Given the description of an element on the screen output the (x, y) to click on. 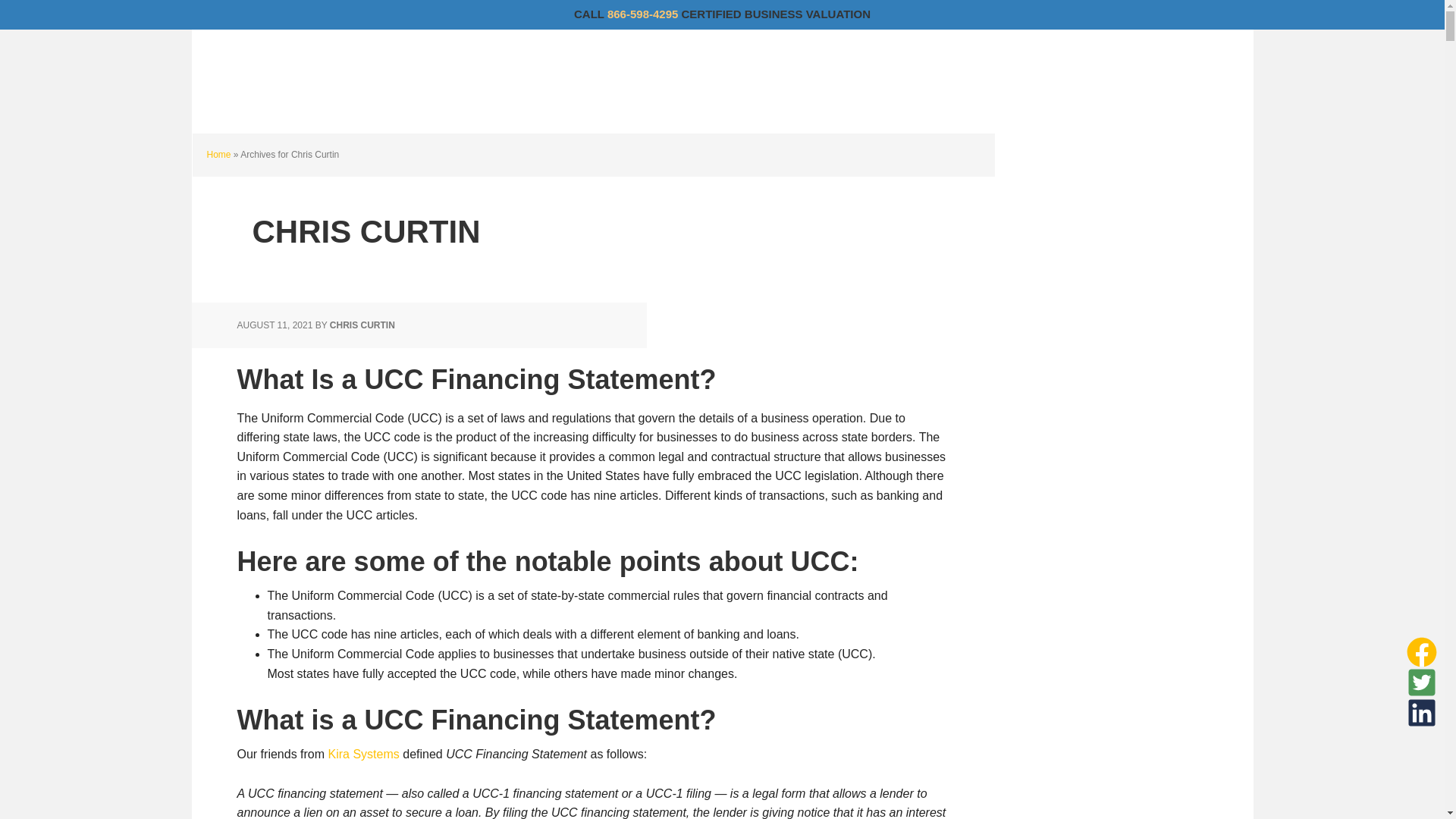
866-598-4295 (642, 13)
CHRIS CURTIN (362, 325)
What Is a UCC Financing Statement? (475, 378)
Home (218, 154)
Kira Systems (363, 753)
